Given the description of an element on the screen output the (x, y) to click on. 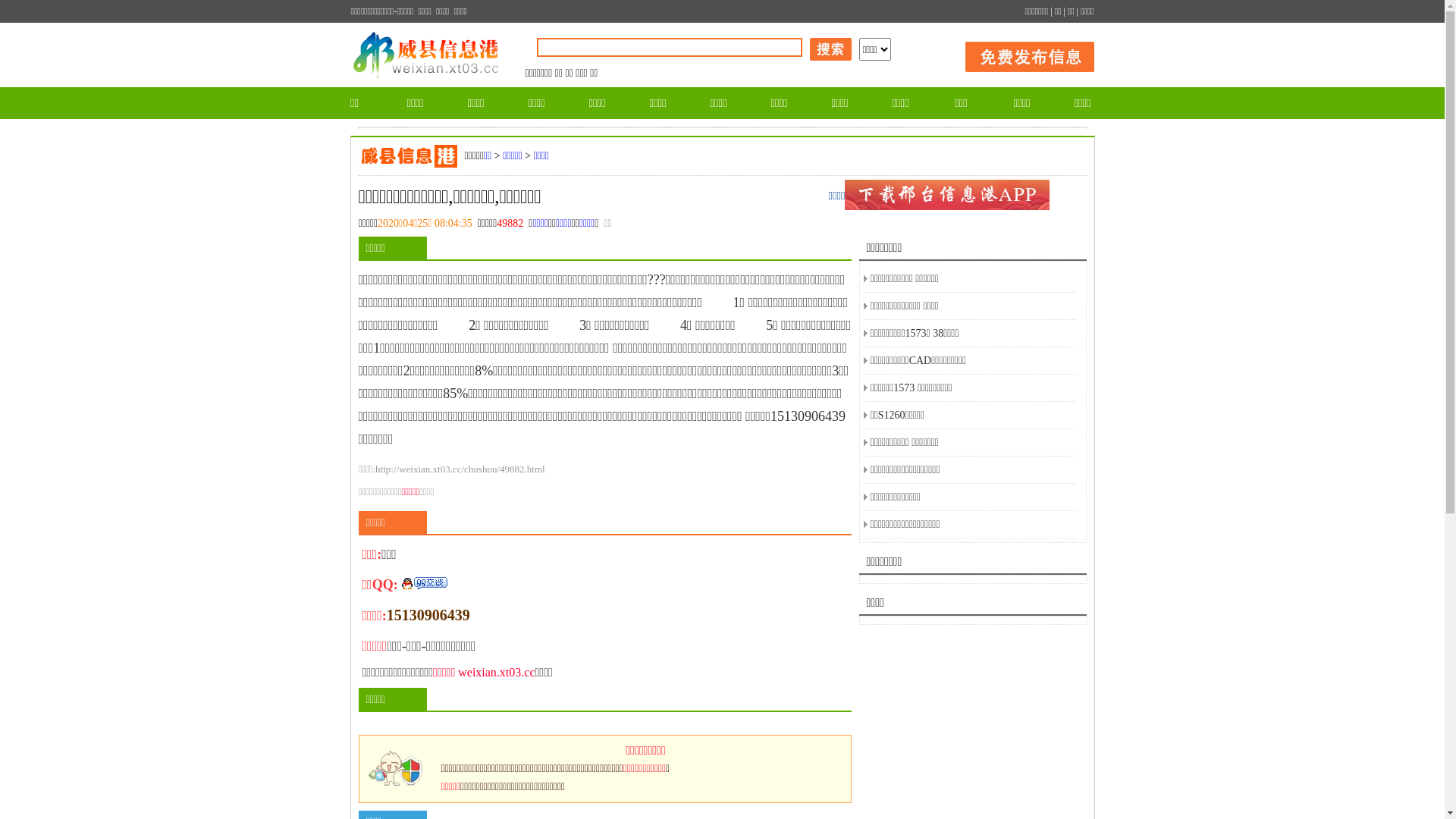
http://weixian.xt03.cc/chushou/49882.html Element type: text (460, 468)
weixian.xt03.cc Element type: text (496, 671)
